Given the description of an element on the screen output the (x, y) to click on. 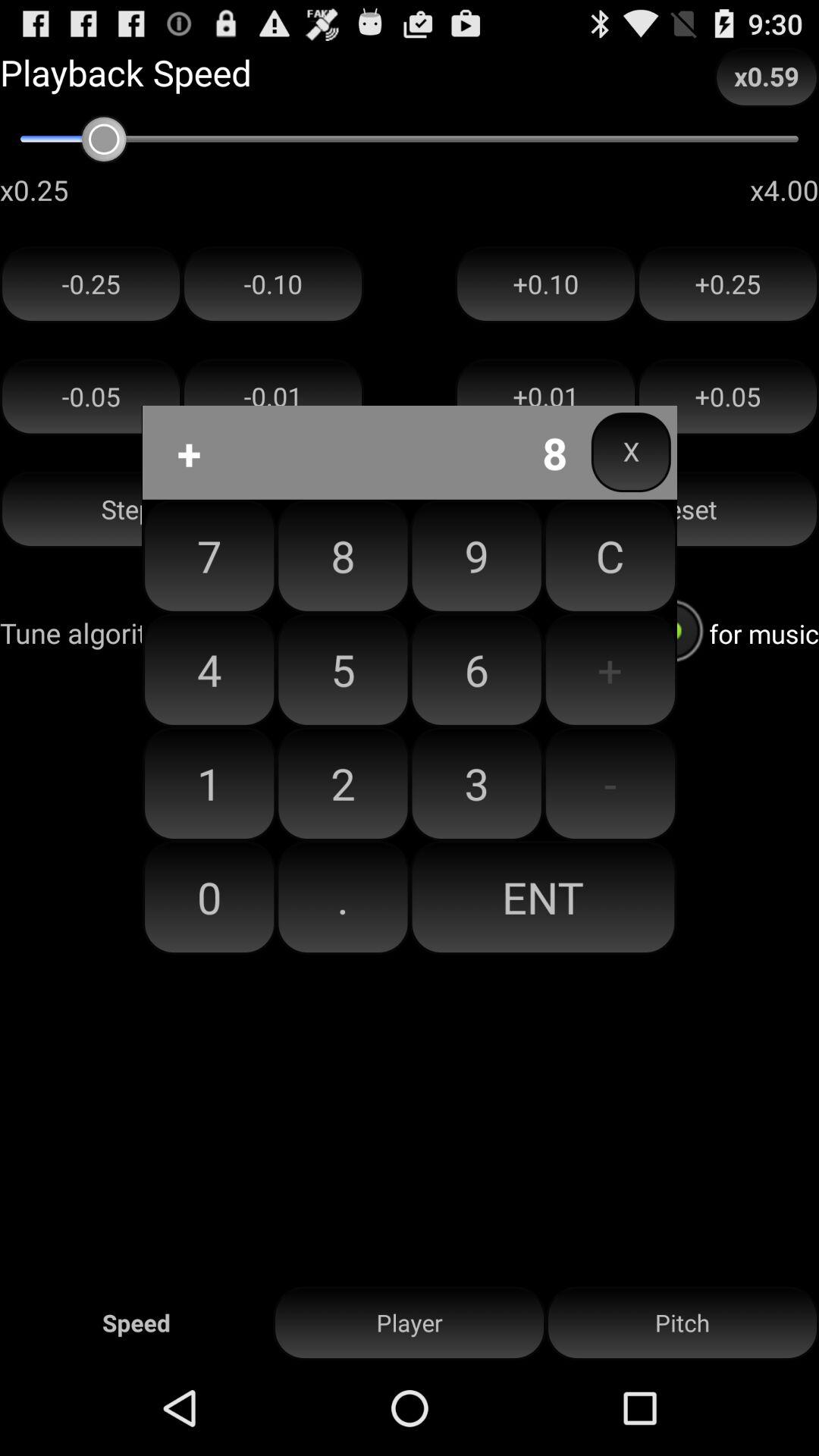
launch the item to the left of 8 (208, 669)
